Given the description of an element on the screen output the (x, y) to click on. 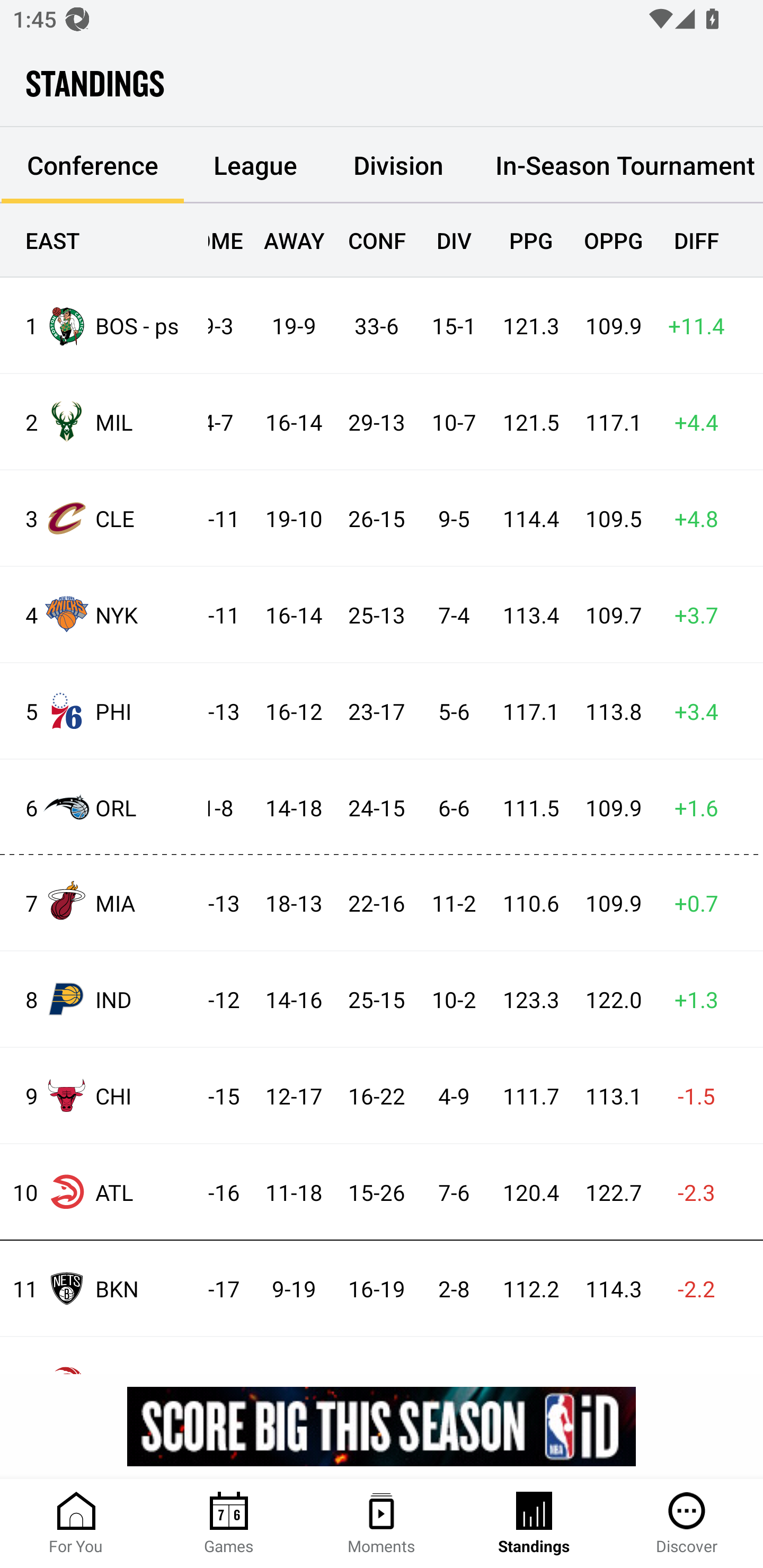
League (254, 165)
Division (398, 165)
In-Season Tournament (616, 165)
1 BOS - ps (104, 325)
2 MIL (104, 421)
3 CLE (104, 518)
4 NYK (104, 613)
5 PHI (104, 710)
6 ORL (104, 806)
7 MIA (104, 902)
8 IND (104, 999)
9 CHI (104, 1095)
10 ATL (104, 1192)
11 BKN (104, 1287)
For You (76, 1523)
Games (228, 1523)
Moments (381, 1523)
Discover (686, 1523)
